Given the description of an element on the screen output the (x, y) to click on. 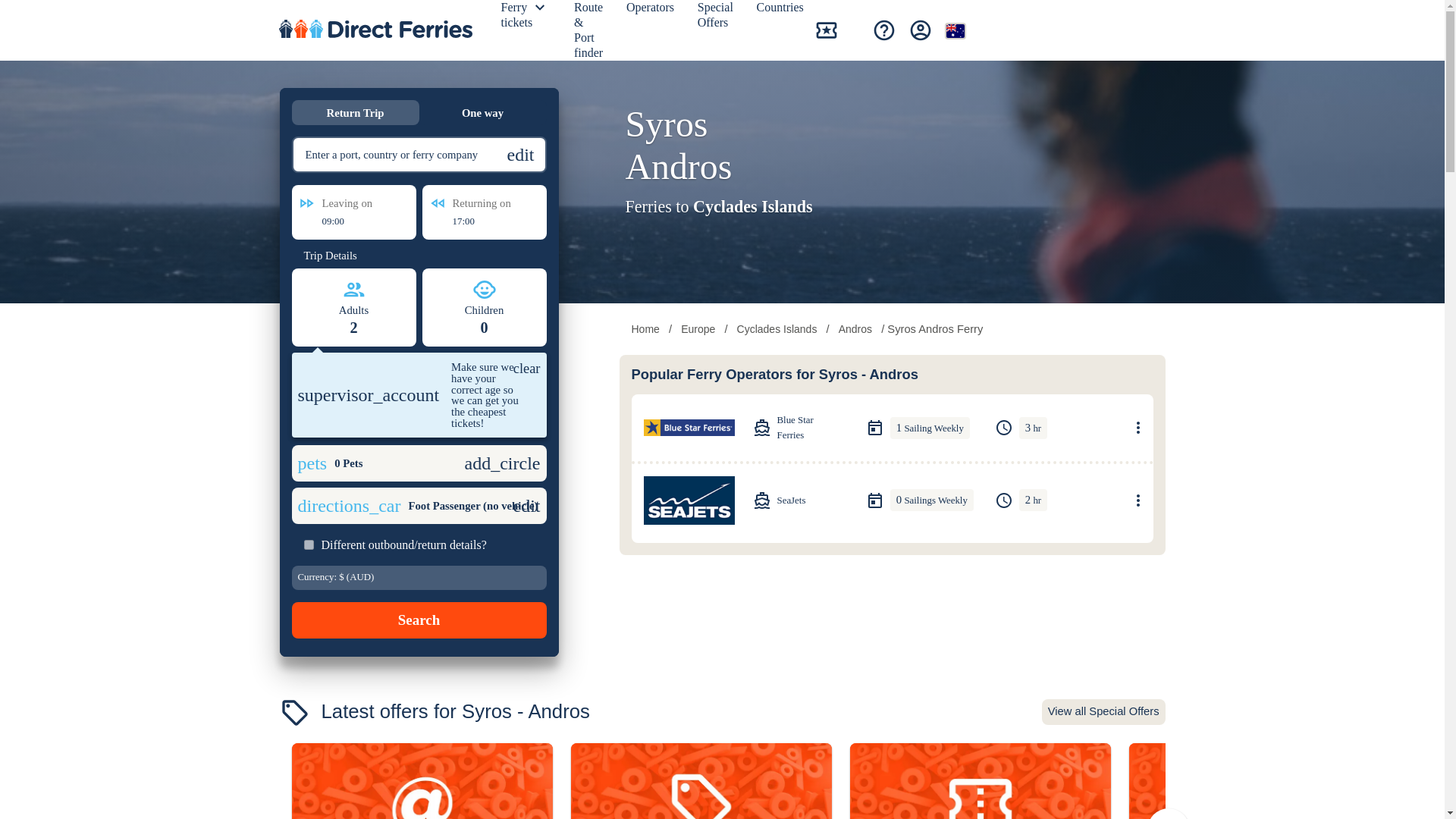
17:00 (484, 221)
Ferry tickets (519, 18)
Special Offers (717, 18)
09:00 (352, 221)
Countries (783, 10)
Operators (652, 10)
on (307, 544)
